Given the description of an element on the screen output the (x, y) to click on. 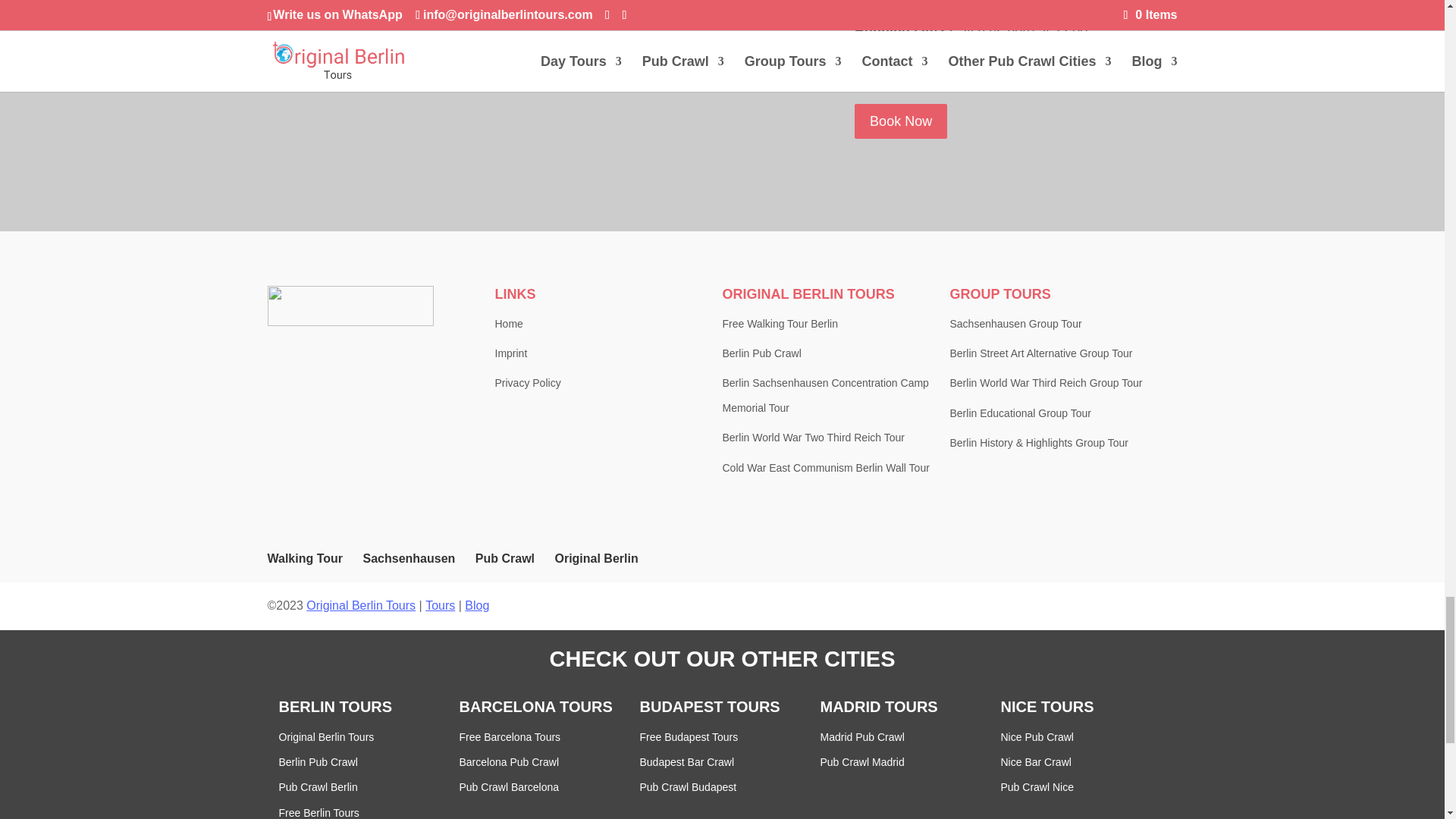
Original Berlin Tours Pub Crawl Berlins Best Pub Crawl (529, 115)
